Given the description of an element on the screen output the (x, y) to click on. 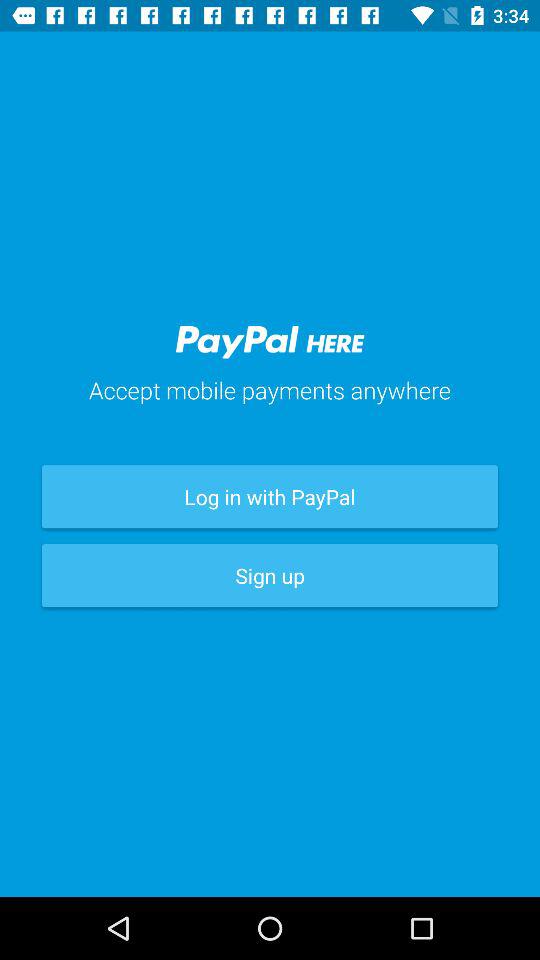
turn off the log in with item (269, 496)
